Given the description of an element on the screen output the (x, y) to click on. 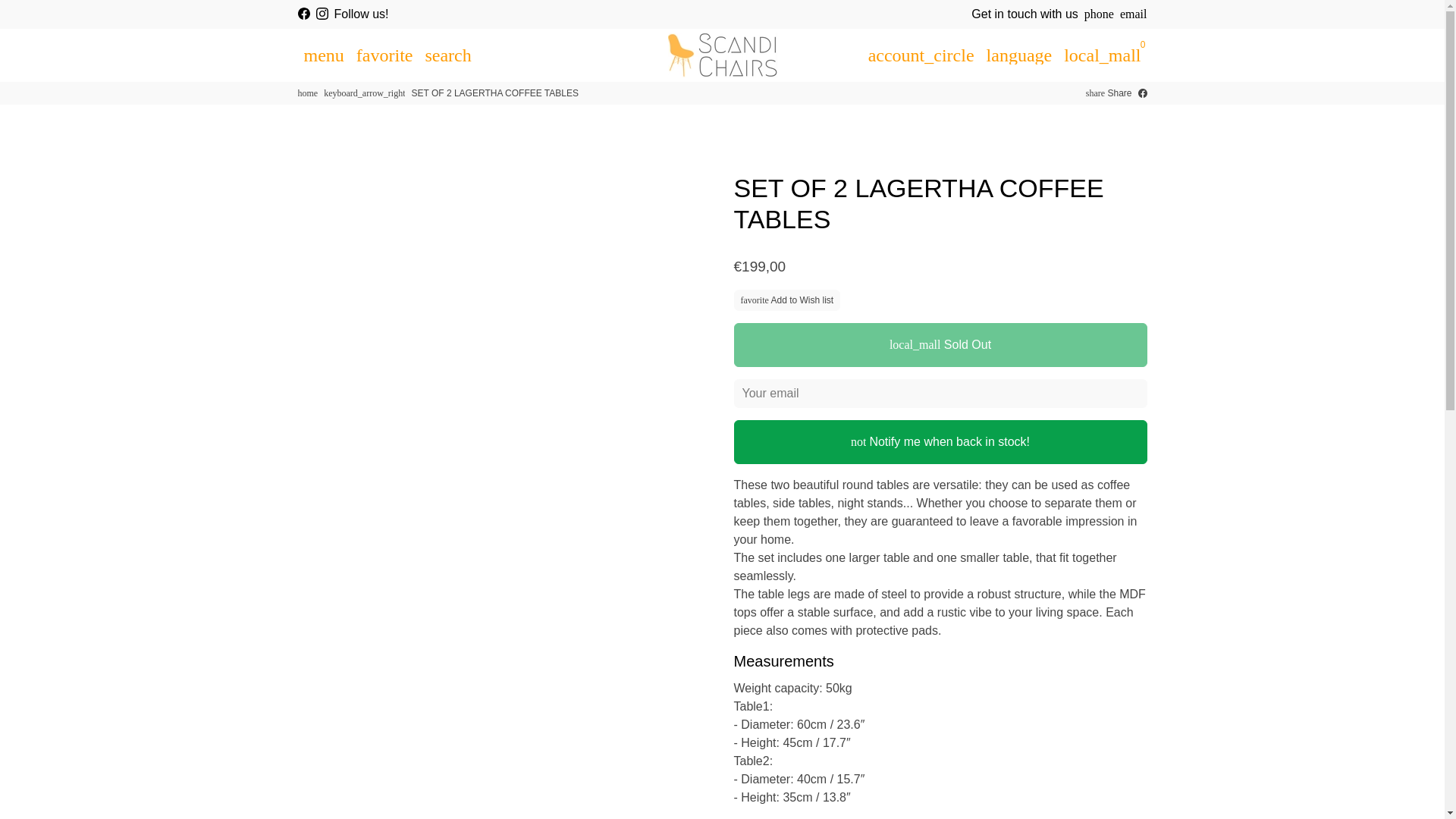
search (448, 54)
Log In (920, 54)
email (1133, 13)
ScandiChairs on Instagram (321, 13)
Wish List (384, 54)
ScandiChairs on Facebook (302, 13)
menu (323, 54)
Menu (323, 54)
favorite (384, 54)
